Given the description of an element on the screen output the (x, y) to click on. 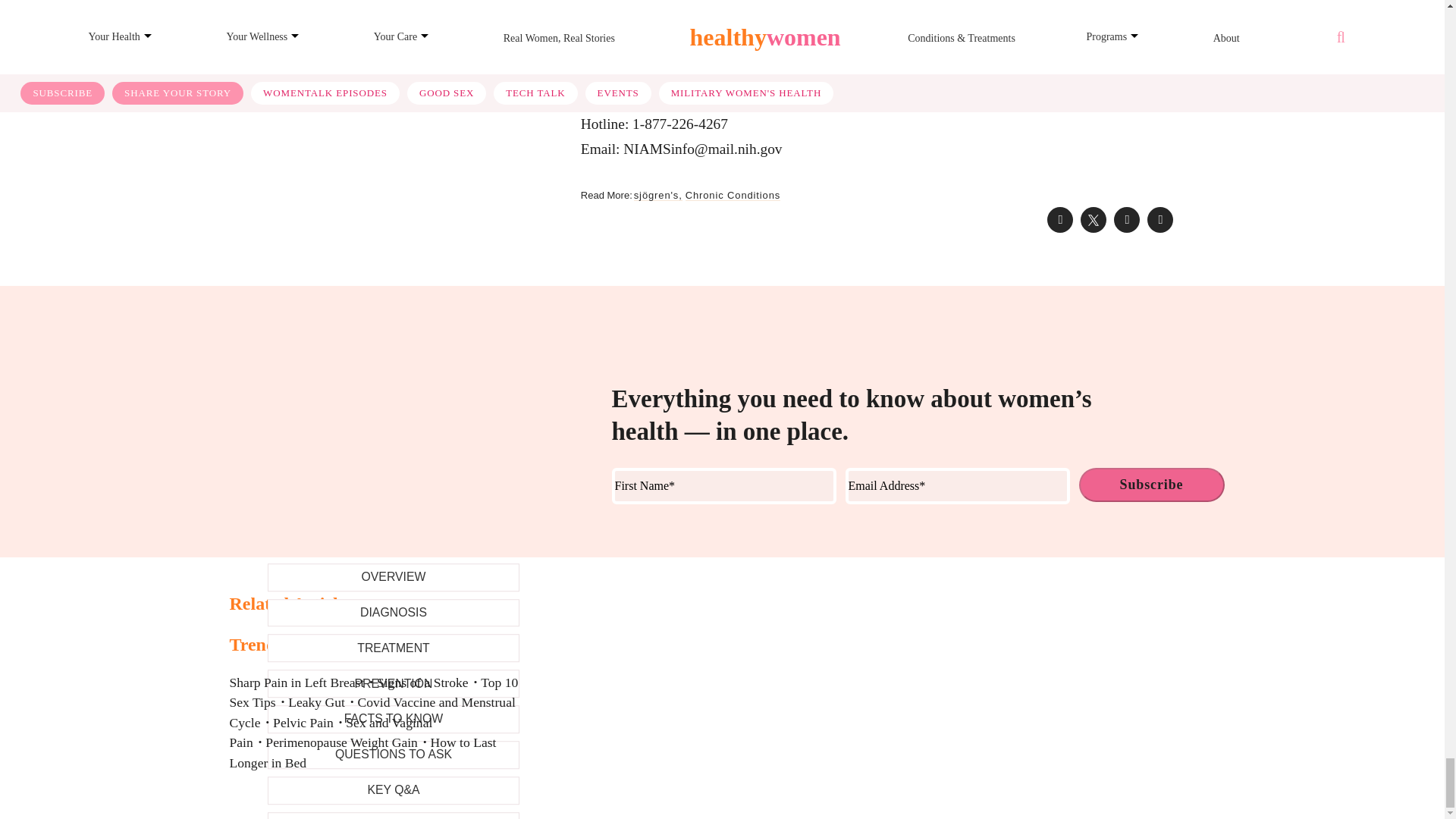
Subscribe (1151, 484)
